Given the description of an element on the screen output the (x, y) to click on. 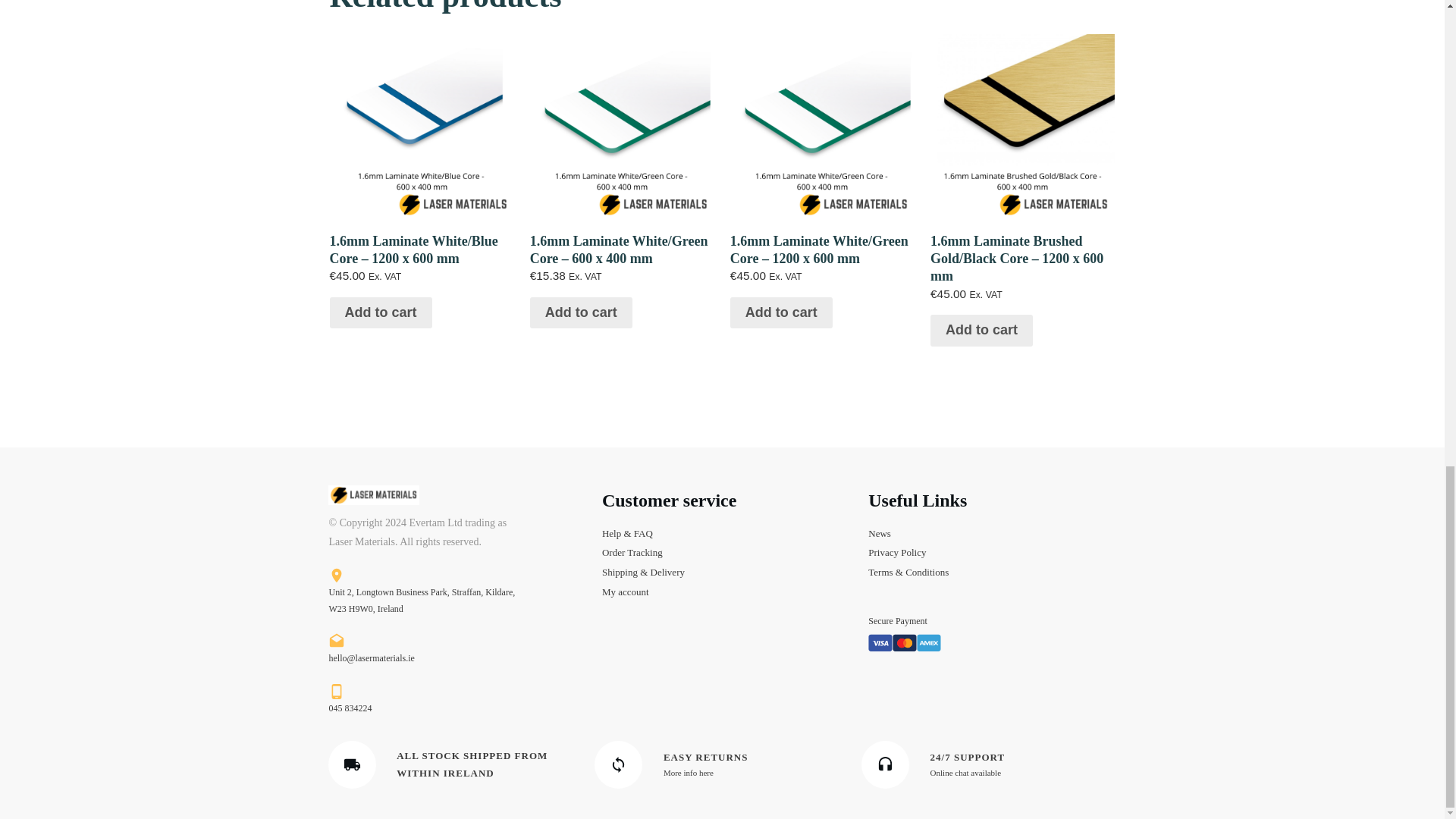
Add to cart (781, 313)
Add to cart (580, 313)
Add to cart (981, 330)
Add to cart (379, 313)
